Given the description of an element on the screen output the (x, y) to click on. 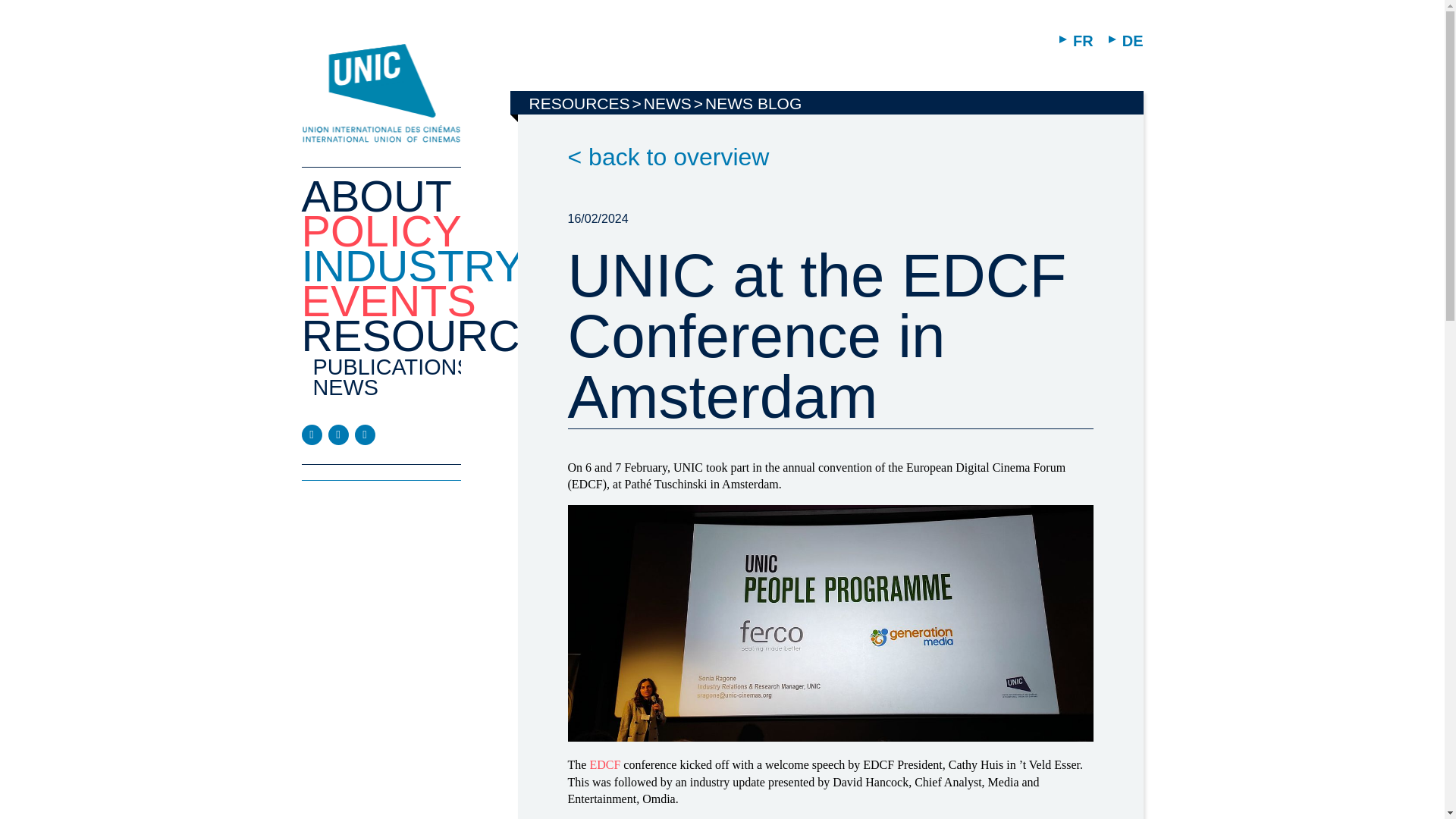
FR (1076, 40)
DE (1125, 40)
EDCF (604, 764)
